Given the description of an element on the screen output the (x, y) to click on. 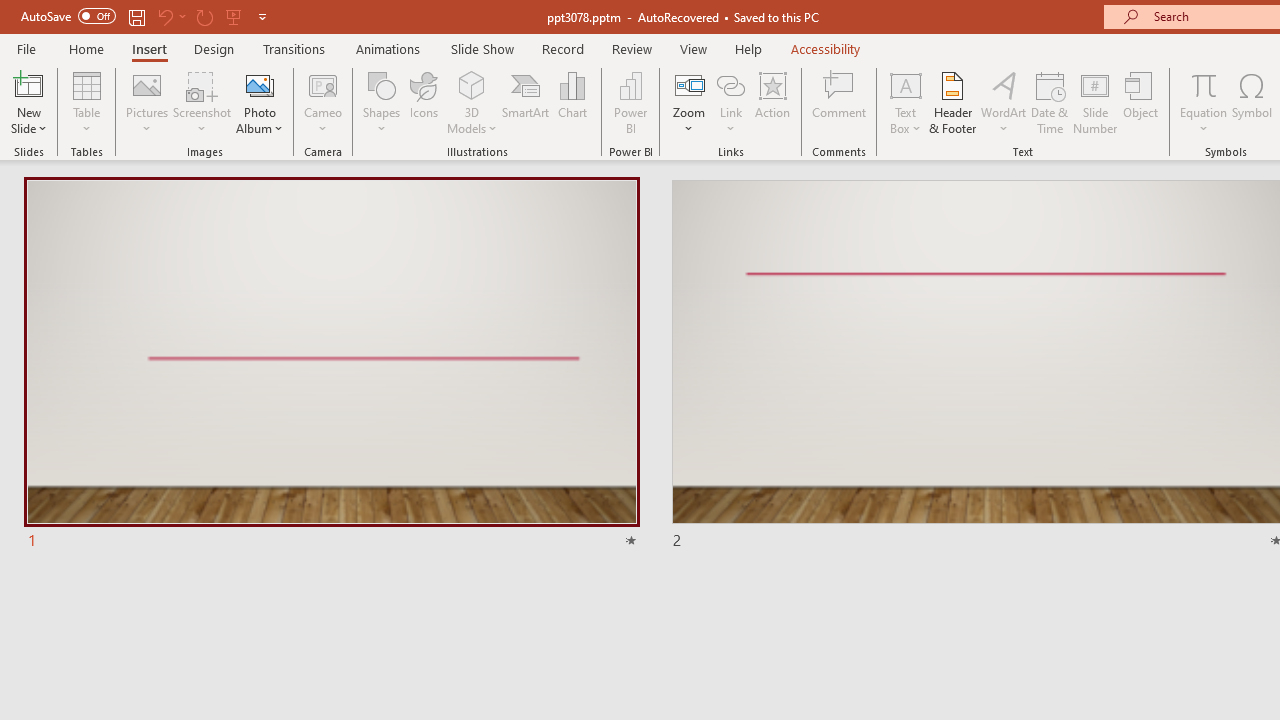
Comment (839, 102)
Draw Horizontal Text Box (905, 84)
Symbol... (1252, 102)
Slide Number (1095, 102)
